Given the description of an element on the screen output the (x, y) to click on. 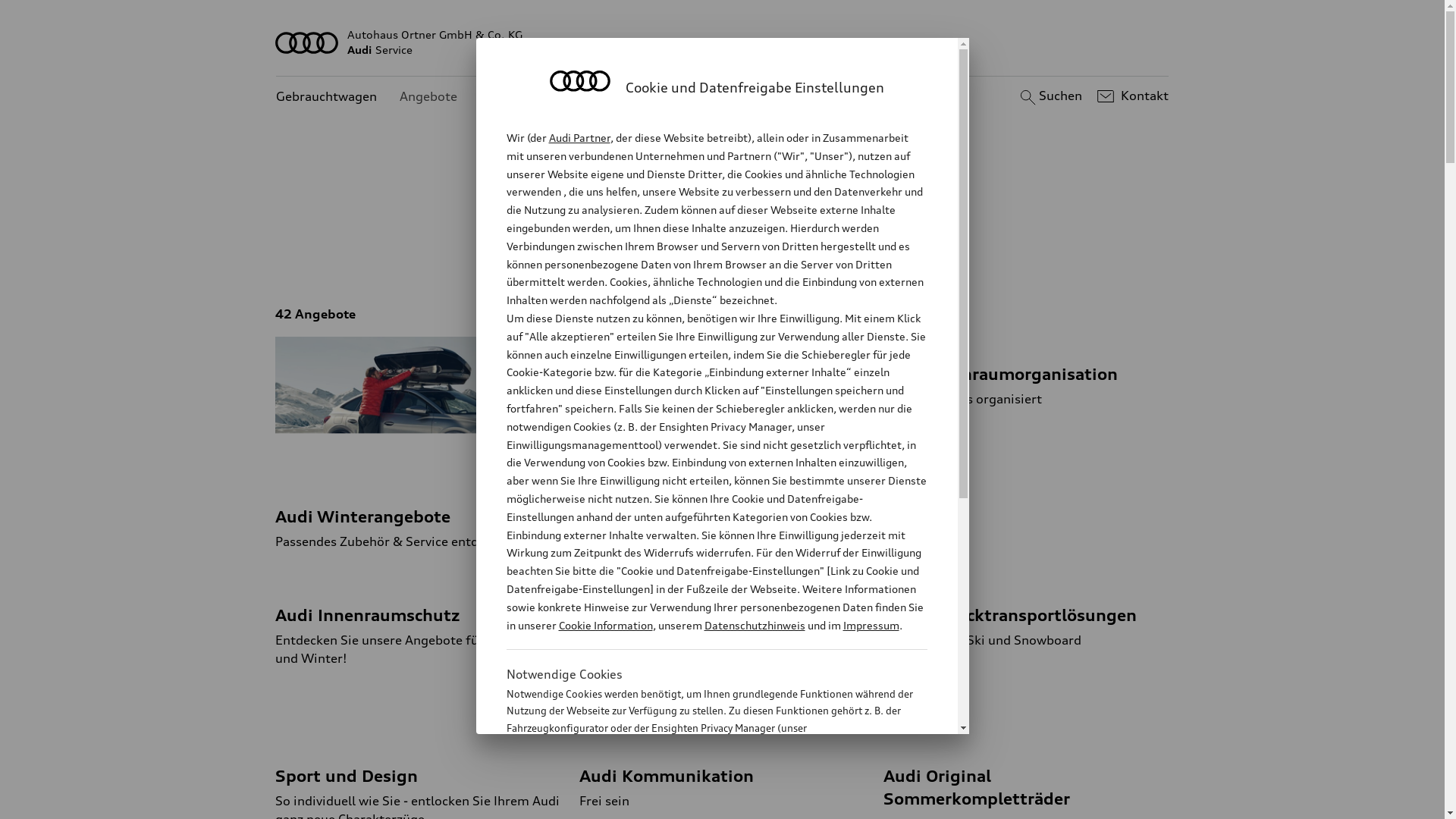
Angebote Element type: text (428, 96)
Datenschutzhinweis Element type: text (753, 624)
Autohaus Ortner GmbH & Co. KG
AudiService Element type: text (722, 42)
Service Element type: text (860, 250)
Audi Innenraumorganisation
Immer bestens organisiert Element type: text (1026, 371)
Cookie Information Element type: text (700, 802)
Impressum Element type: text (871, 624)
Kontakt Element type: text (1130, 96)
Audi Kommunikation
Frei sein Element type: text (722, 773)
Gebrauchtwagen Element type: text (326, 96)
Kundenservice Element type: text (523, 96)
Audi Partner Element type: text (579, 137)
Alle Angebote Element type: text (604, 250)
Suchen Element type: text (1049, 96)
Cookie Information Element type: text (605, 624)
Fahrzeuge Element type: text (703, 250)
